Given the description of an element on the screen output the (x, y) to click on. 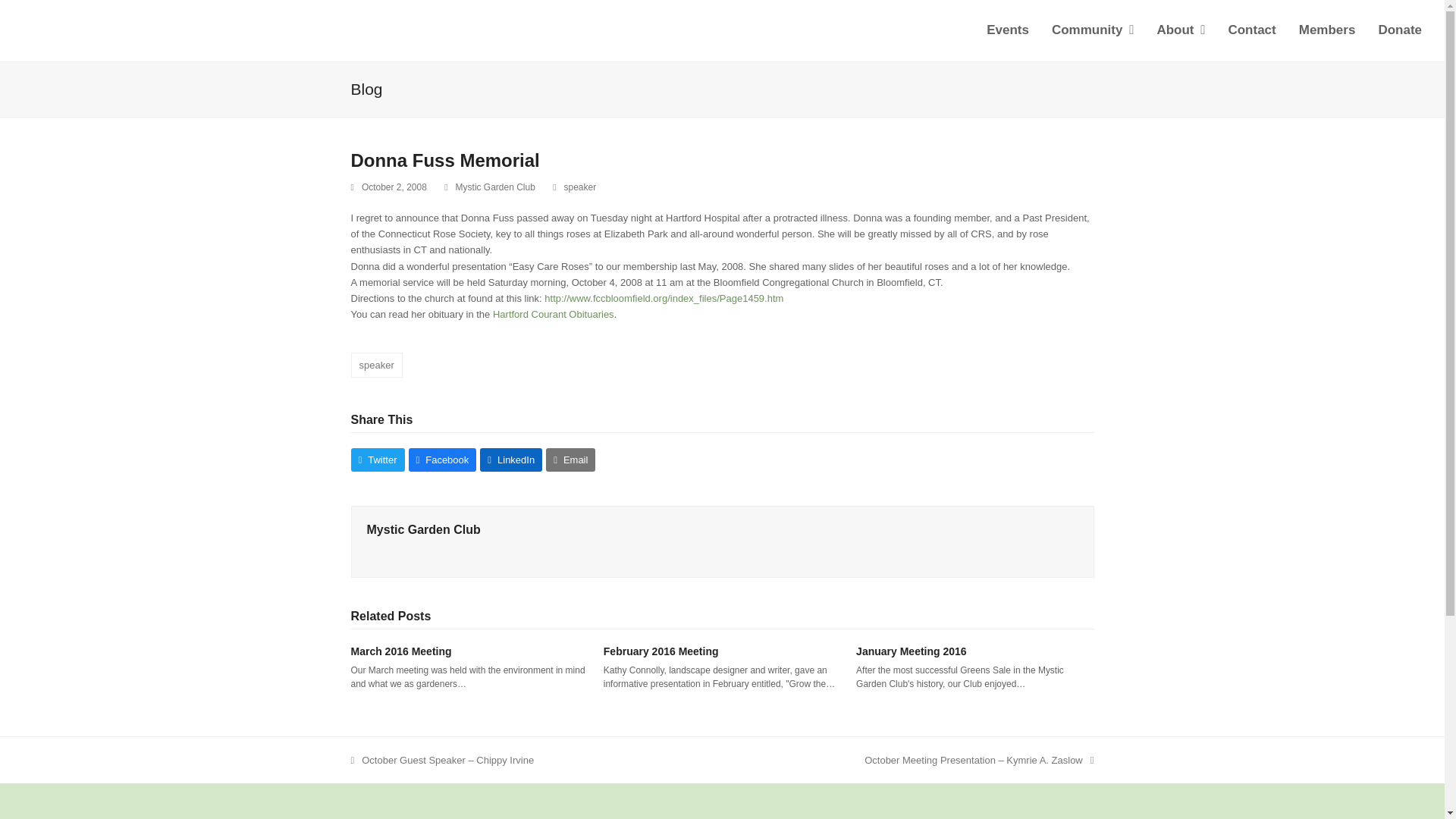
Contact (1251, 30)
speaker (580, 186)
Visit Author Page (423, 529)
Mystic Garden Club (495, 186)
Posts by Mystic Garden Club (495, 186)
Members (1327, 30)
About (1179, 30)
Events (1008, 30)
Community (1092, 30)
Hartford Courant Obituaries (553, 314)
